Given the description of an element on the screen output the (x, y) to click on. 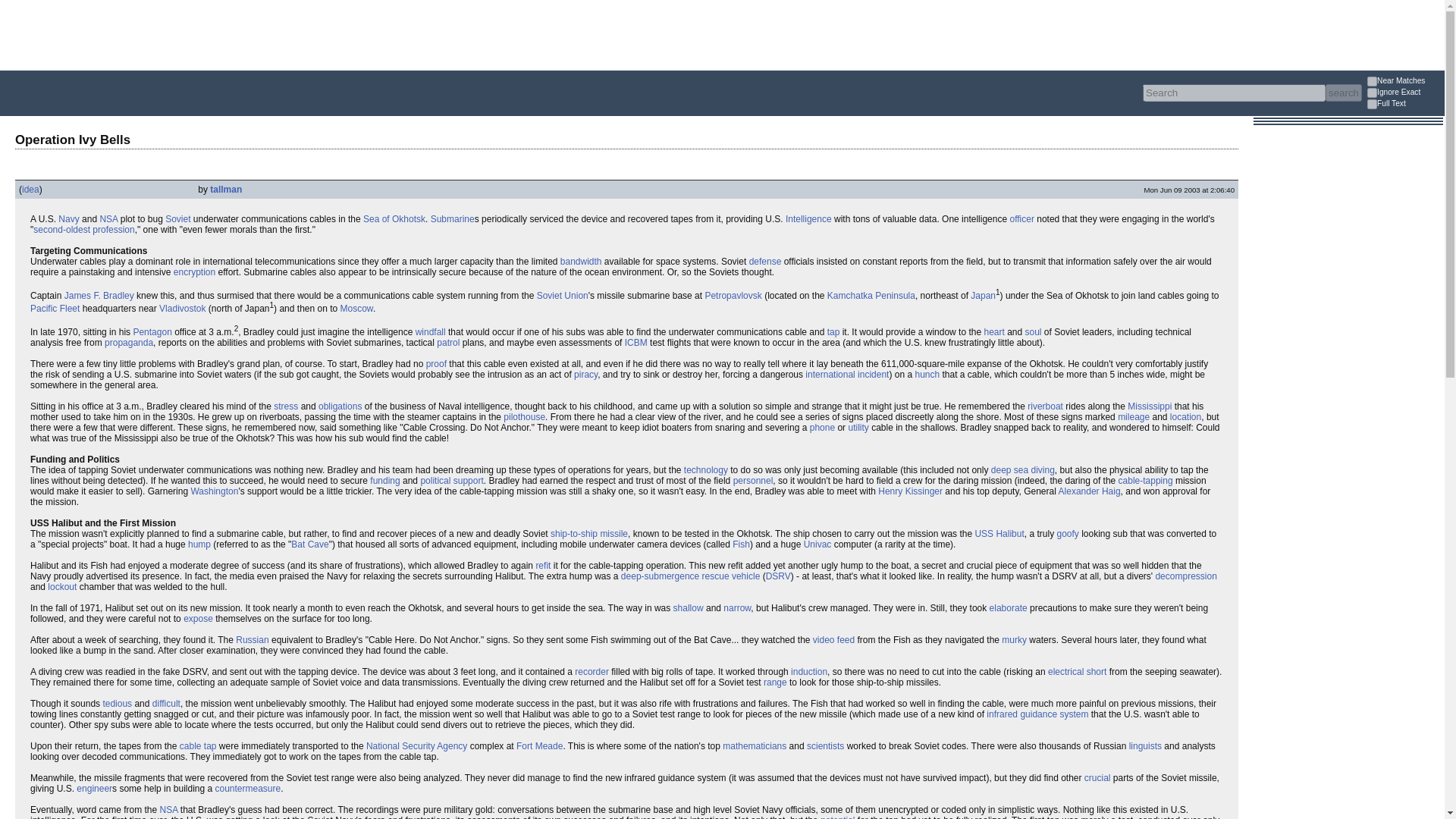
Petropavlovsk (732, 295)
James F. Bradley (98, 295)
espionage (83, 229)
defense (765, 261)
proof (436, 363)
obligations (339, 406)
Submarine (452, 218)
Submarine (452, 218)
Navy (68, 218)
Search for text within writeups (1404, 104)
Navy (68, 218)
search (1342, 92)
international incident (846, 374)
encryption (194, 271)
NSA (108, 218)
